Given the description of an element on the screen output the (x, y) to click on. 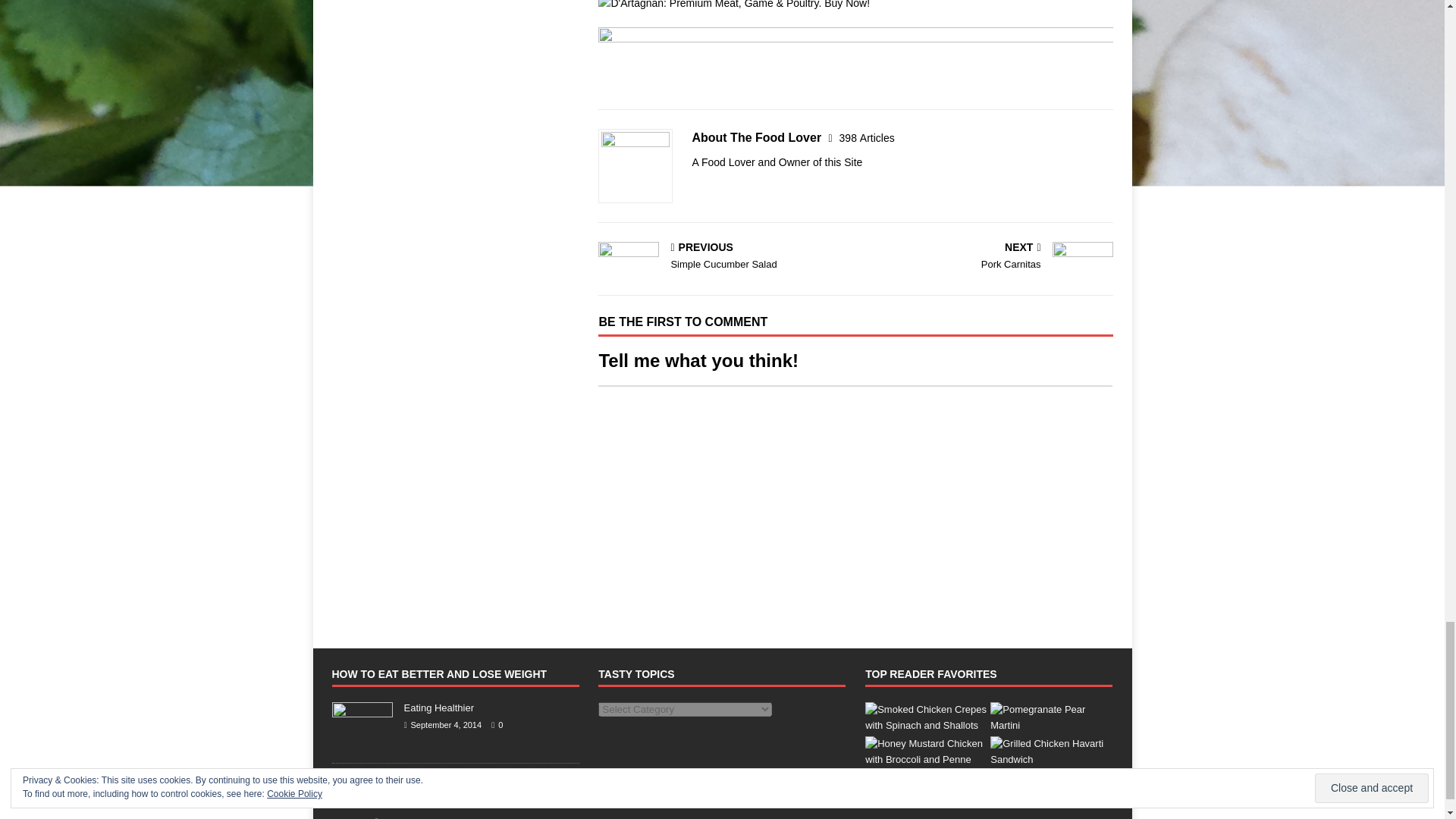
Eating Healthier (362, 738)
Comment Form (855, 504)
Eating Healthier (438, 707)
More articles written by The Food Lover' (867, 137)
